Given the description of an element on the screen output the (x, y) to click on. 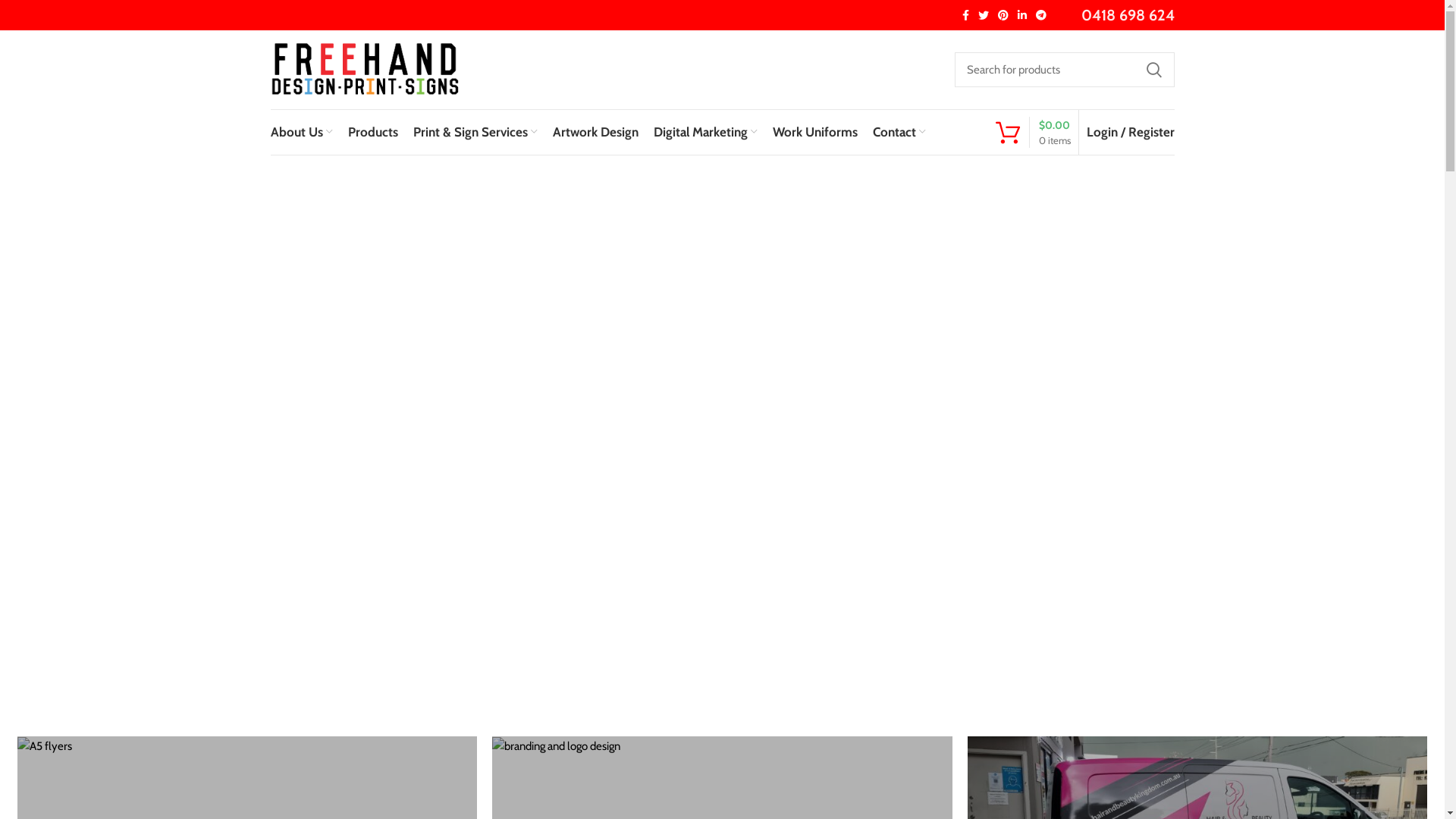
0418 698 624 Element type: text (1127, 15)
Print & Sign Services Element type: text (474, 131)
About Us Element type: text (300, 131)
Artwork Design Element type: text (594, 131)
Log in Element type: text (1049, 369)
Search for products Element type: hover (1063, 69)
Contact Element type: text (898, 131)
Digital Marketing Element type: text (705, 131)
Work Uniforms Element type: text (814, 131)
SEARCH Element type: text (1153, 69)
0 items
$0.00 Element type: text (1032, 131)
Products Element type: text (371, 131)
Login / Register Element type: text (1129, 131)
